Given the description of an element on the screen output the (x, y) to click on. 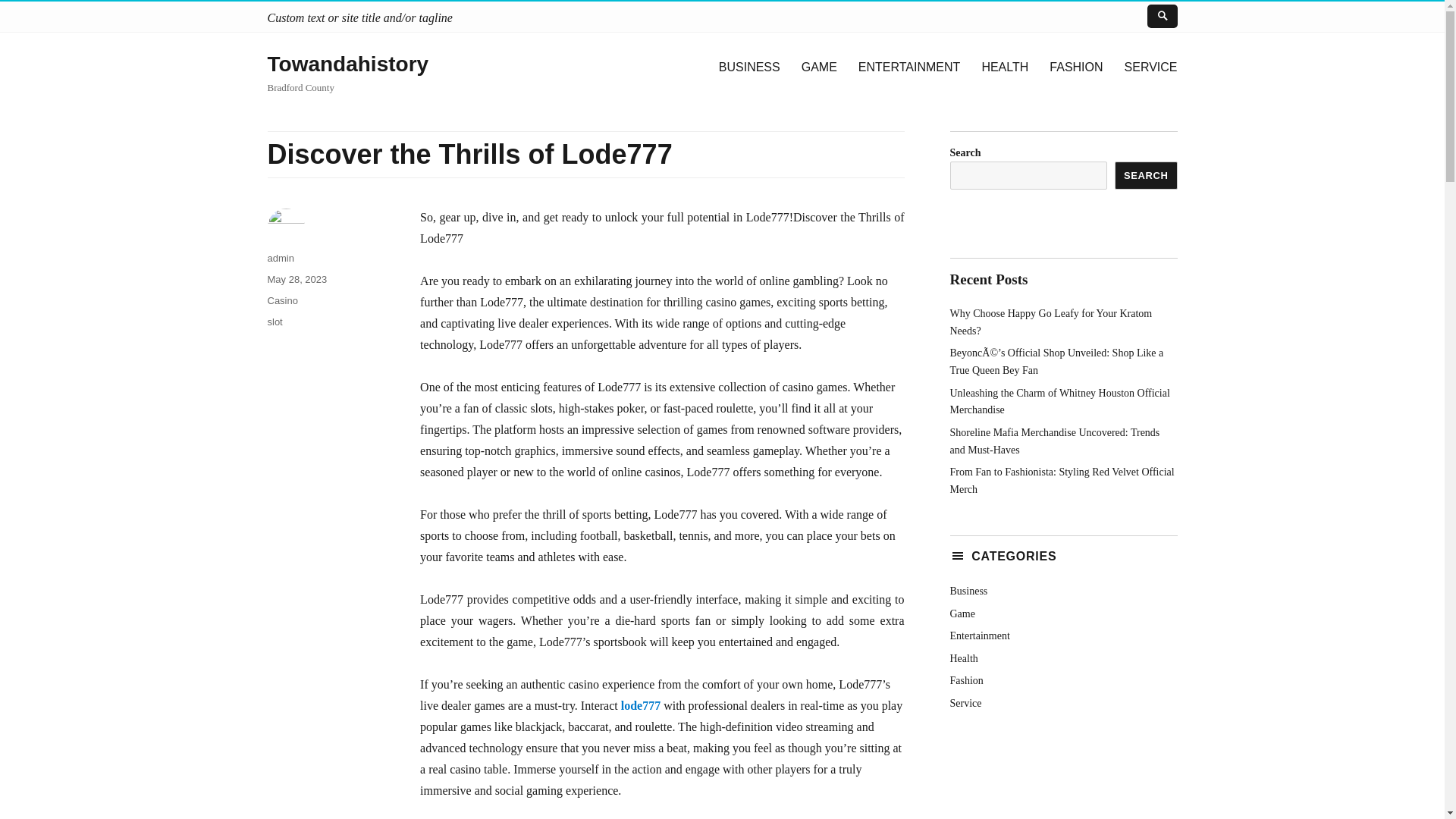
May 28, 2023 (296, 279)
GAME (818, 66)
Casino (281, 300)
Towandahistory (347, 64)
lode777 (641, 705)
FASHION (1076, 66)
ENTERTAINMENT (909, 66)
HEALTH (1005, 66)
BUSINESS (748, 66)
SERVICE (1150, 66)
admin (280, 257)
slot (274, 321)
